Given the description of an element on the screen output the (x, y) to click on. 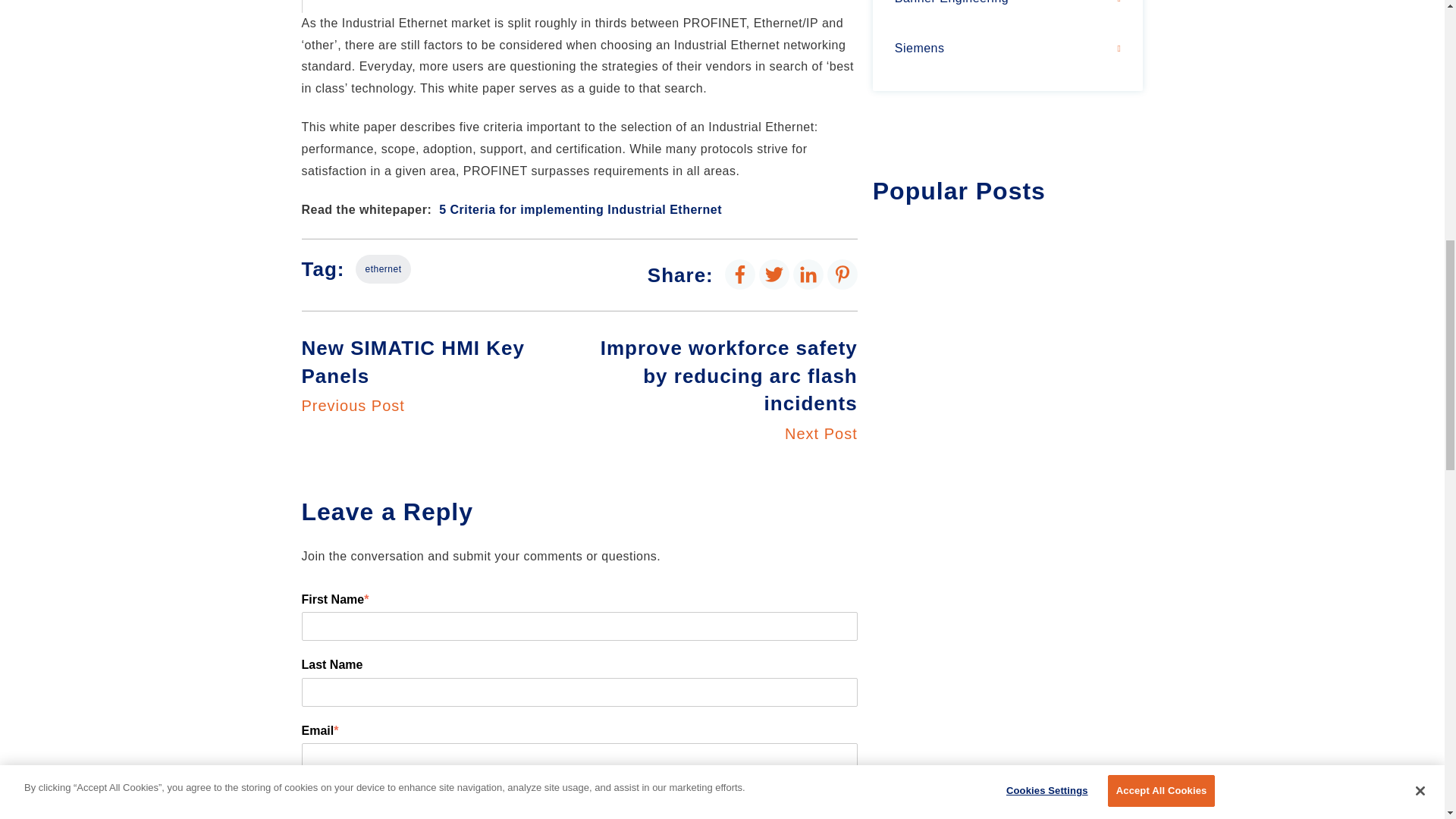
Follow us on Twitter (774, 274)
5 Criteria for implementing Industrial Ethernet (580, 209)
Banner Engineering (1007, 11)
Siemens (1007, 48)
Follow us on Pinterest (842, 274)
5 Criteria for choosing Industrial Ethernet whitepaper (491, 6)
Follow us on Twitter (773, 274)
Follow us on Facebook (739, 274)
Follow us on Facebook (740, 274)
Follow us on Linkedin (808, 274)
Follow us on Pinterest (841, 274)
Follow us on Linkedin (807, 274)
ethernet (440, 375)
